Given the description of an element on the screen output the (x, y) to click on. 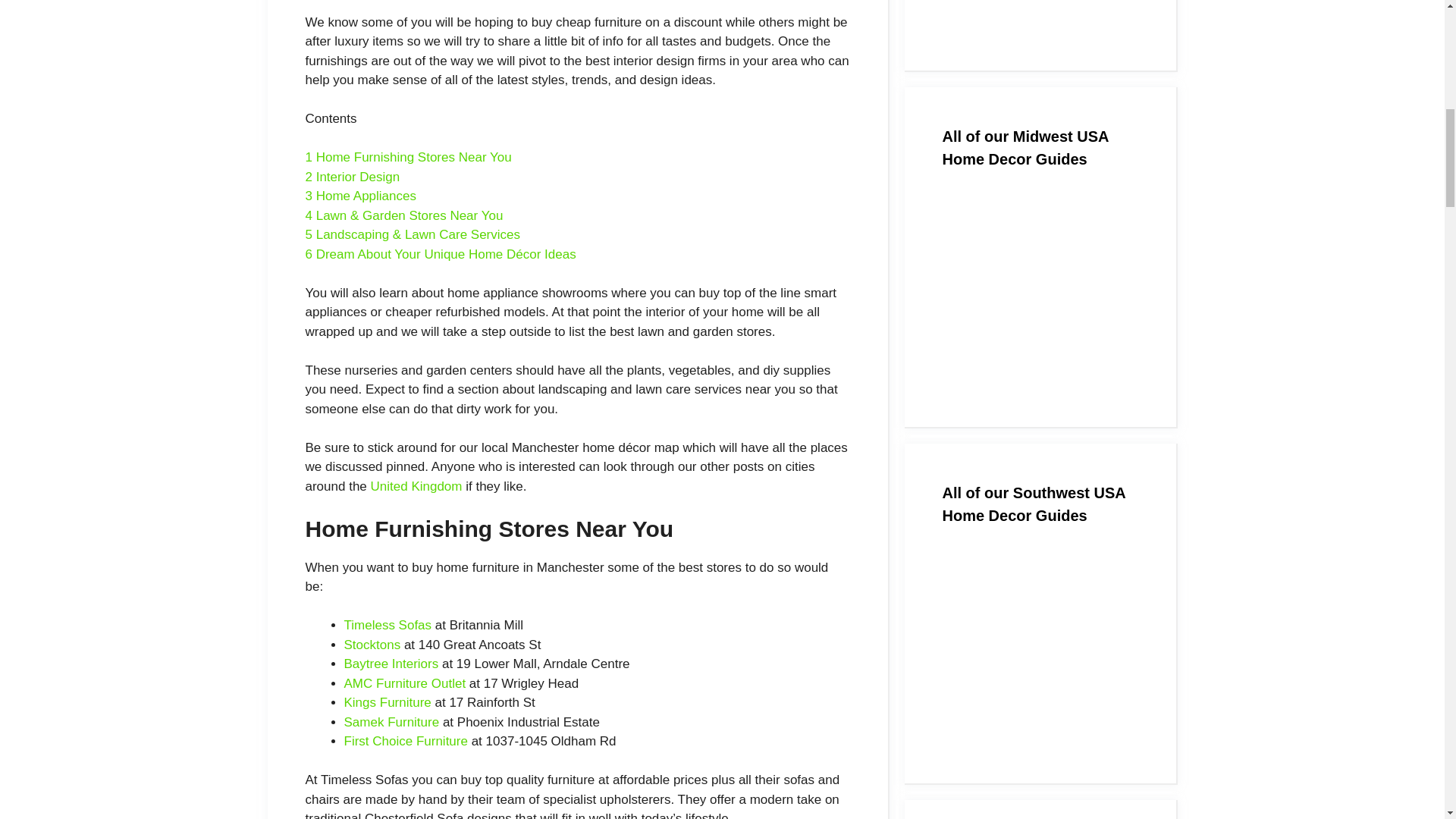
Baytree Interiors (391, 663)
Timeless Sofas (387, 625)
Stocktons (372, 644)
AMC Furniture Outlet (404, 683)
United Kingdom (417, 486)
All of our Southeast USA Home Decor Guides (1039, 15)
First Choice Furniture (405, 740)
1 Home Furnishing Stores Near You (407, 156)
All of our Midwest USA Home Decor Guides (1039, 290)
3 Home Appliances (359, 196)
2 Interior Design (351, 176)
All of our Southwest USA Home Decor Guides (1039, 646)
Kings Furniture (386, 702)
Samek Furniture (391, 721)
